Given the description of an element on the screen output the (x, y) to click on. 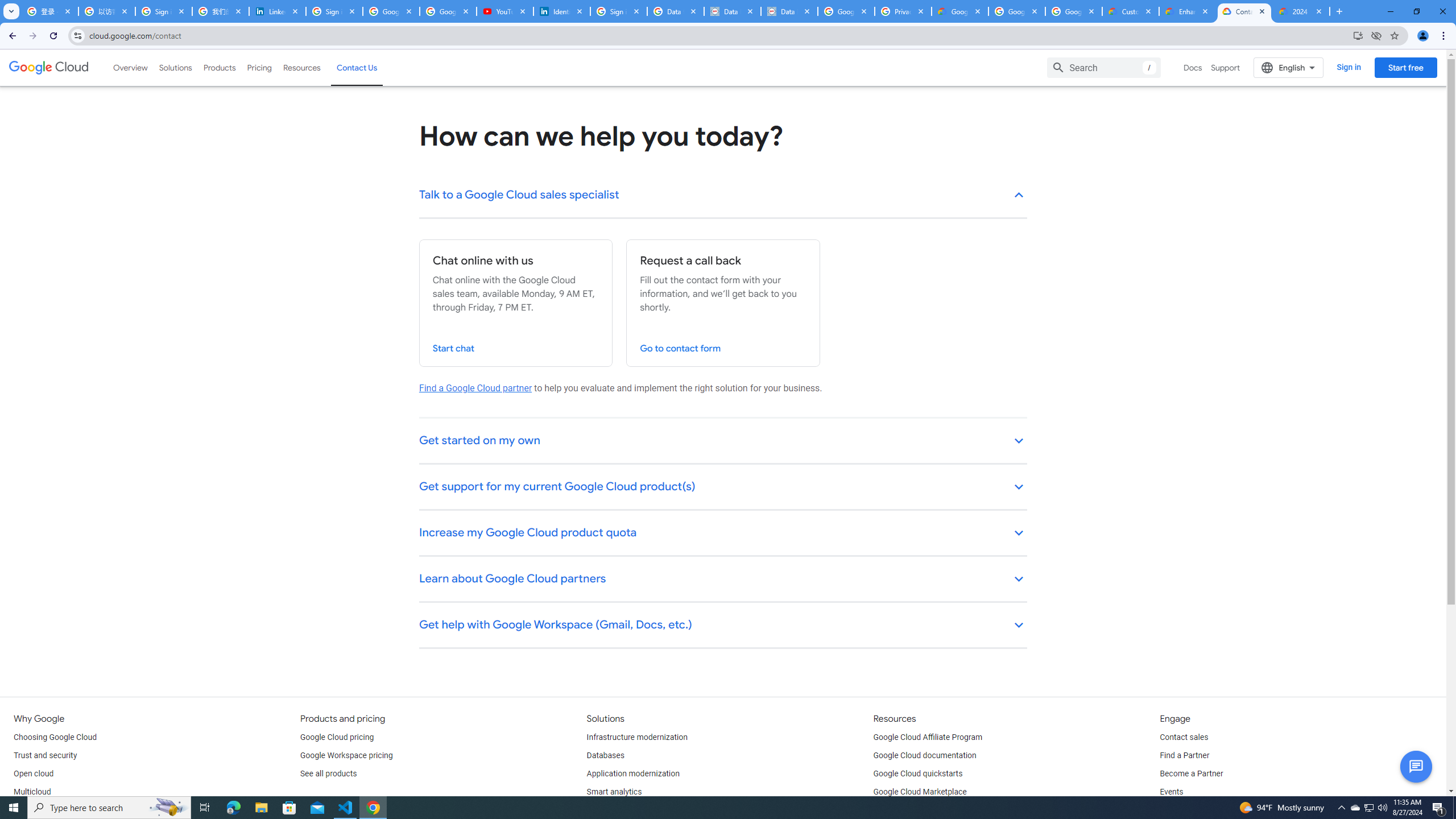
Infrastructure modernization (637, 737)
Trust and security (45, 755)
Docs (1192, 67)
Google Cloud Terms Directory | Google Cloud (959, 11)
Find a Partner (1183, 755)
Contact sales (1183, 737)
Enhanced Support | Google Cloud (1187, 11)
Become a Partner (1190, 773)
Find a Google Cloud partner (475, 387)
